Given the description of an element on the screen output the (x, y) to click on. 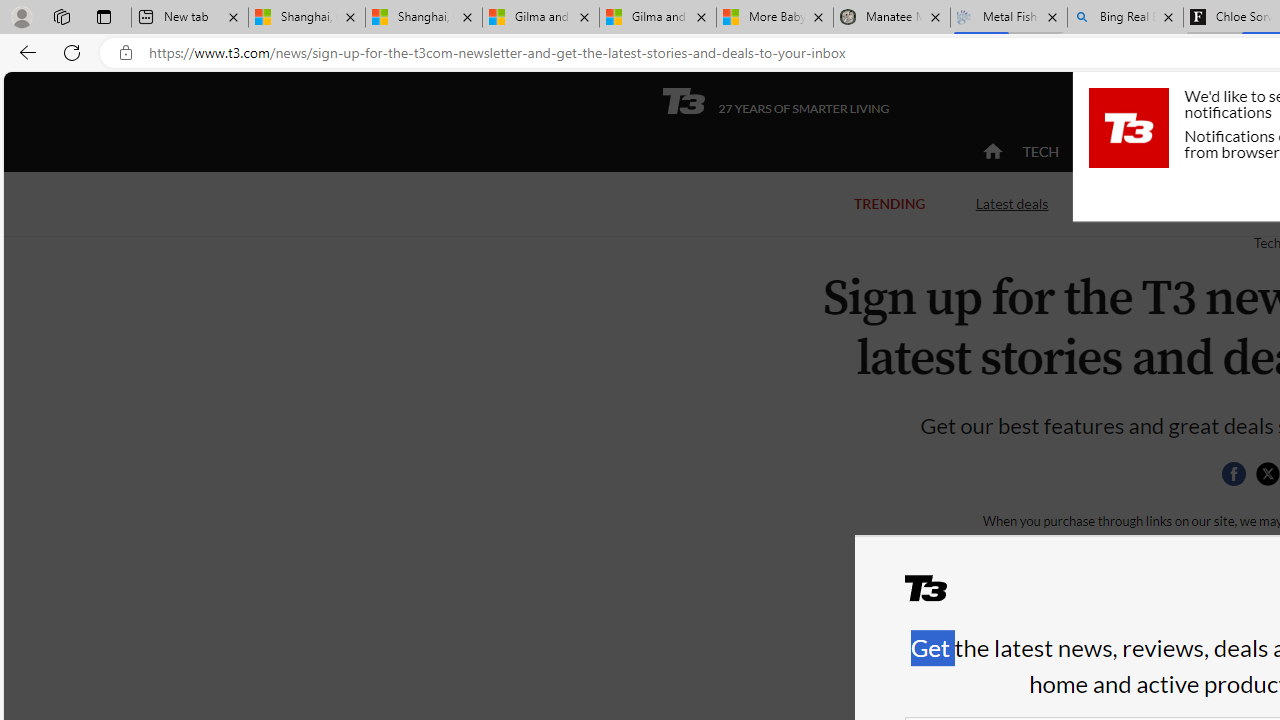
t3.com Logo (1128, 127)
Class: navigation__item (990, 151)
TECH (1040, 151)
Share this page on Twitter (1267, 474)
ACTIVE (1124, 151)
Back to Class 2024 (1178, 202)
Class: social__item (1238, 477)
Manatee Mortality Statistics | FWC (891, 17)
Share this page on Facebook (1233, 474)
